Given the description of an element on the screen output the (x, y) to click on. 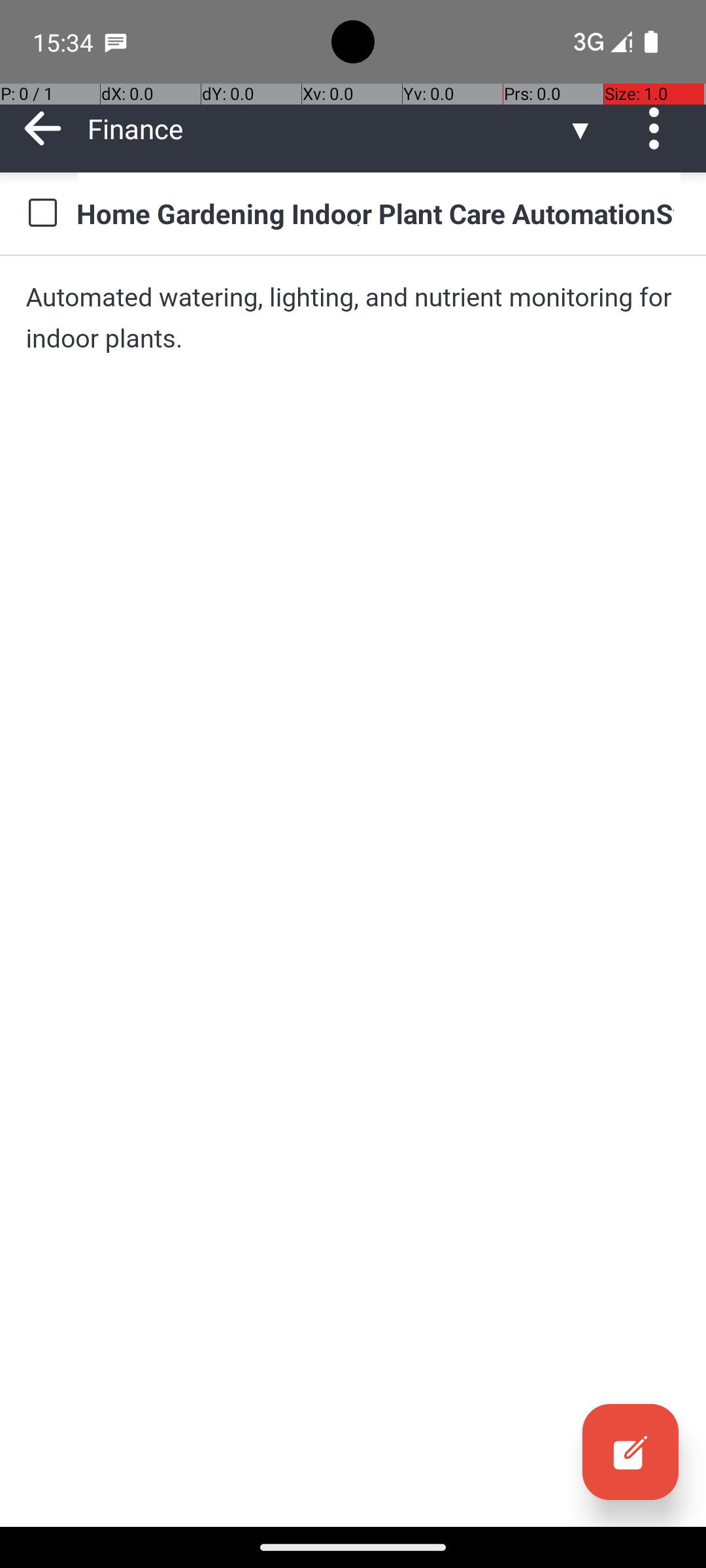
Smart Home Gardening Indoor Plant Care AutomationSystem Element type: android.widget.EditText (378, 213)
Edit, collapsed Element type: android.widget.Button (630, 1452)
 Element type: android.widget.TextView (42, 127)
Finance Element type: android.widget.TextView (326, 128)
▼ Element type: android.widget.TextView (580, 128)
Actions Element type: android.view.ViewGroup (658, 127)
 Element type: android.widget.TextView (630, 1451)
 Element type: android.widget.TextView (658, 127)
Automated watering, lighting, and nutrient monitoring for indoor plants. Element type: android.widget.TextView (352, 317)
SMS Messenger notification: +10214033213 Element type: android.widget.ImageView (115, 41)
